Given the description of an element on the screen output the (x, y) to click on. 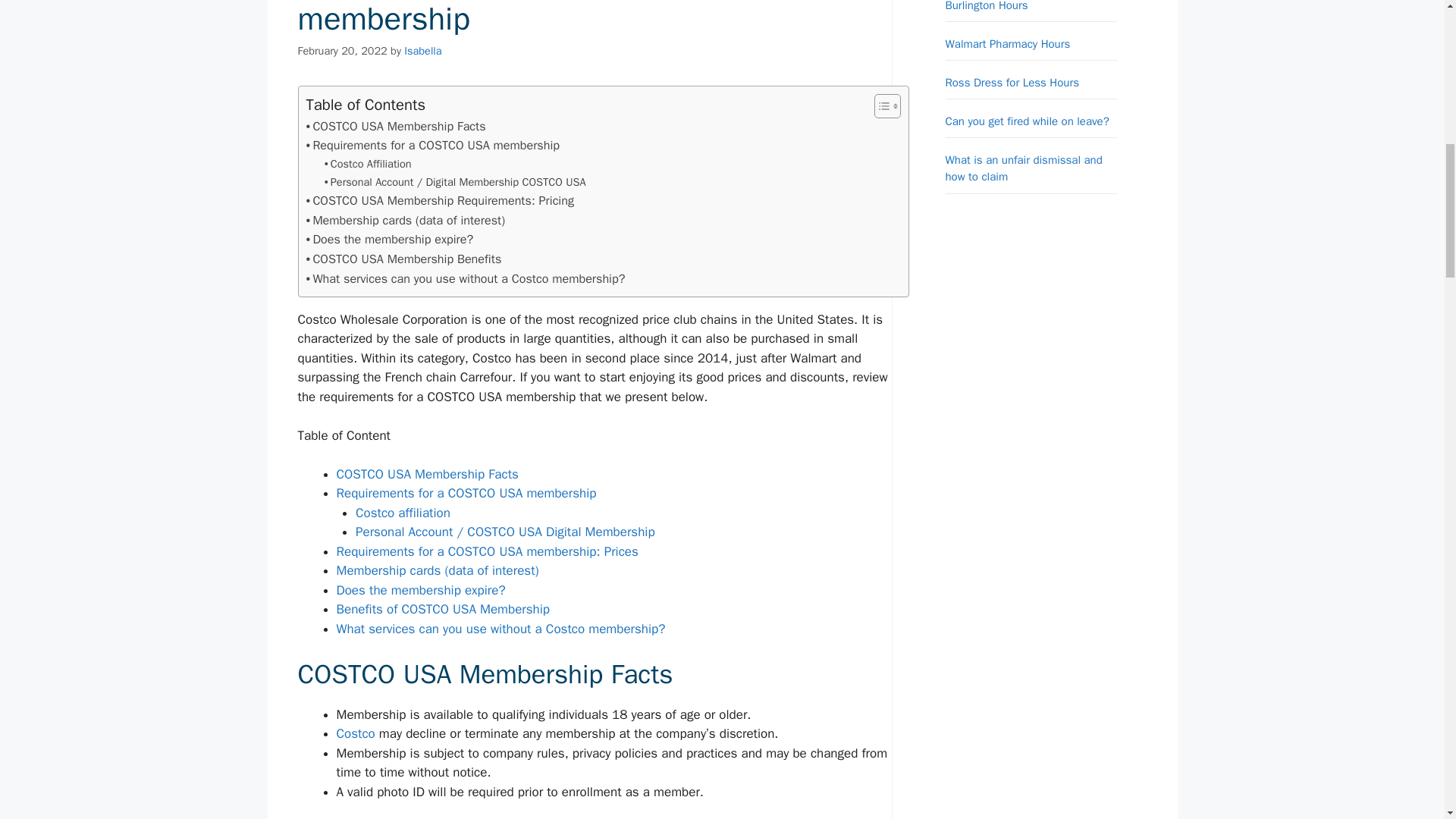
COSTCO USA Membership Facts (395, 126)
Costco affiliation (402, 512)
COSTCO USA Membership Requirements: Pricing (440, 200)
View all posts by Isabella (422, 50)
What services can you use without a Costco membership? (465, 279)
What services can you use without a Costco membership? (500, 628)
Does the membership expire? (420, 590)
What services can you use without a Costco membership? (465, 279)
Does the membership expire? (389, 239)
Benefits of COSTCO USA Membership (443, 609)
Requirements for a COSTCO USA membership (432, 145)
Isabella (422, 50)
COSTCO USA Membership Benefits (403, 259)
Requirements for a COSTCO USA membership (432, 145)
Costco (355, 733)
